Given the description of an element on the screen output the (x, y) to click on. 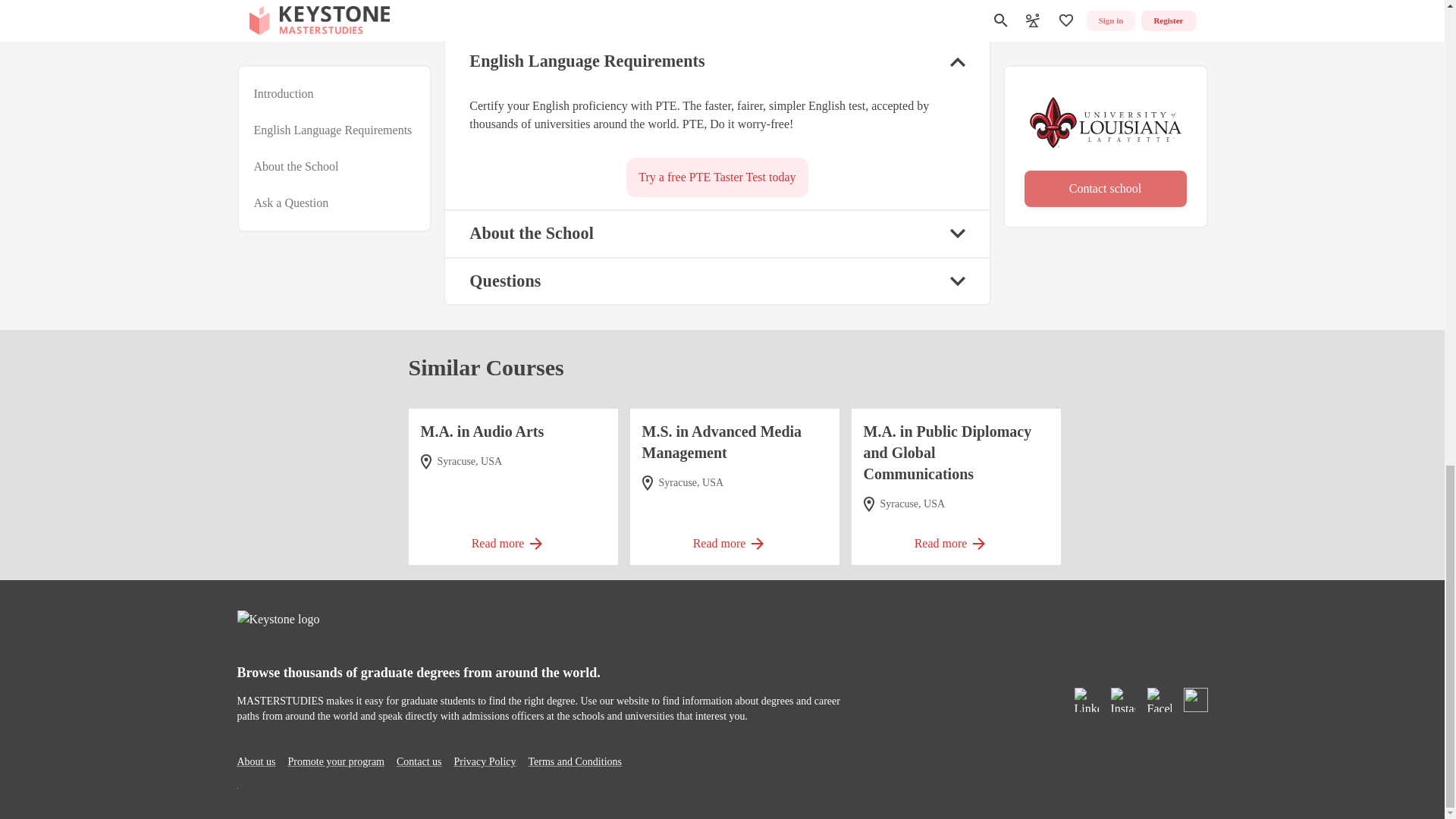
Try a free PTE Taster Test today (717, 177)
Read more (512, 538)
Read more (734, 538)
Read more (955, 538)
